Given the description of an element on the screen output the (x, y) to click on. 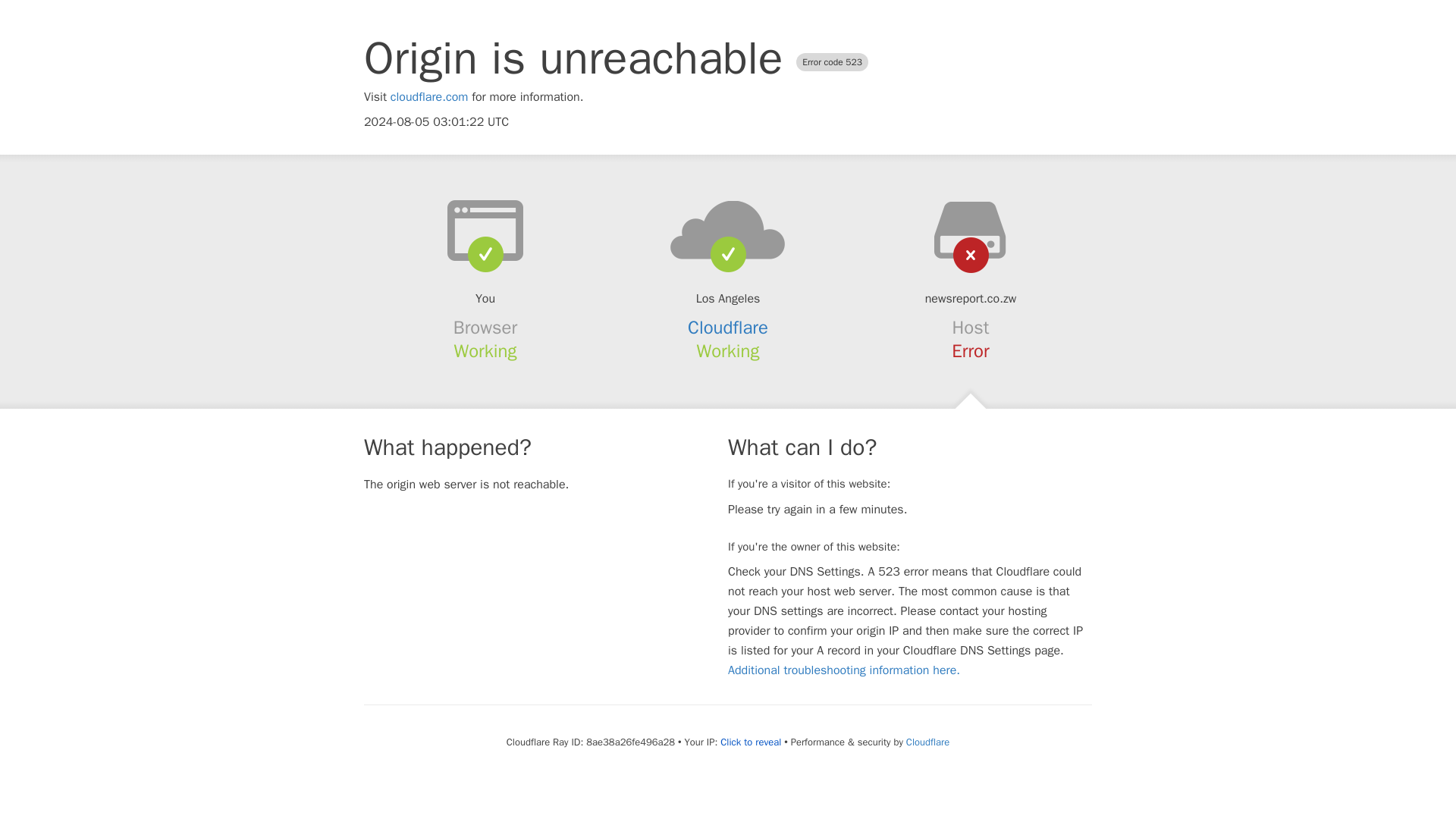
Cloudflare (927, 741)
cloudflare.com (429, 96)
Click to reveal (750, 742)
Additional troubleshooting information here. (843, 670)
Cloudflare (727, 327)
